Given the description of an element on the screen output the (x, y) to click on. 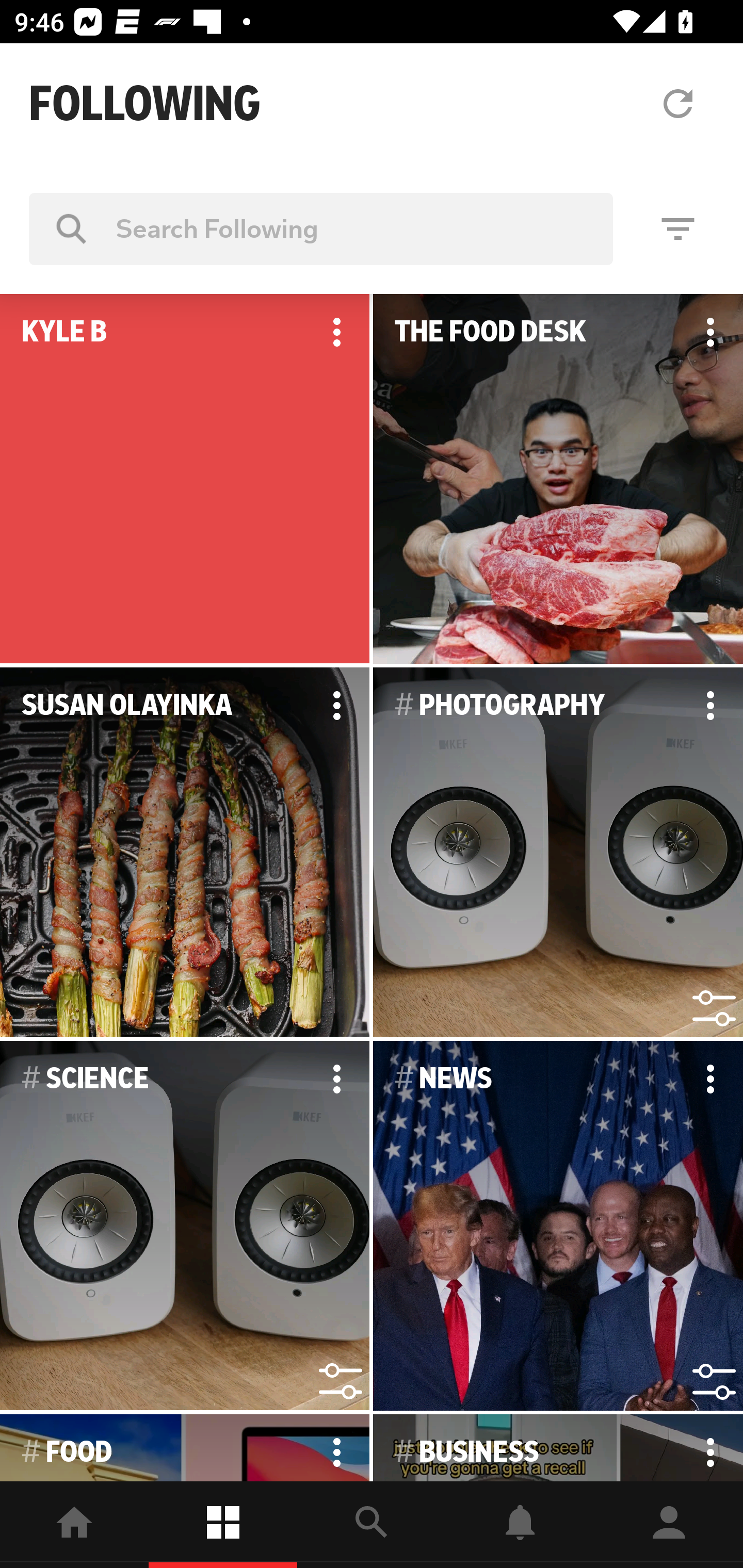
Search Following (320, 228)
KYLE B Options (184, 478)
Options (336, 332)
THE FOOD DESK Options (557, 478)
Options (710, 332)
SUSAN OLAYINKA Options (184, 852)
Options (336, 705)
# PHOTOGRAPHY Options (557, 852)
Options (710, 705)
# SCIENCE Options (184, 1226)
Options (336, 1078)
# NEWS Options (557, 1226)
Options (710, 1078)
home (74, 1524)
Following (222, 1524)
explore (371, 1524)
Notifications (519, 1524)
Profile (668, 1524)
